Given the description of an element on the screen output the (x, y) to click on. 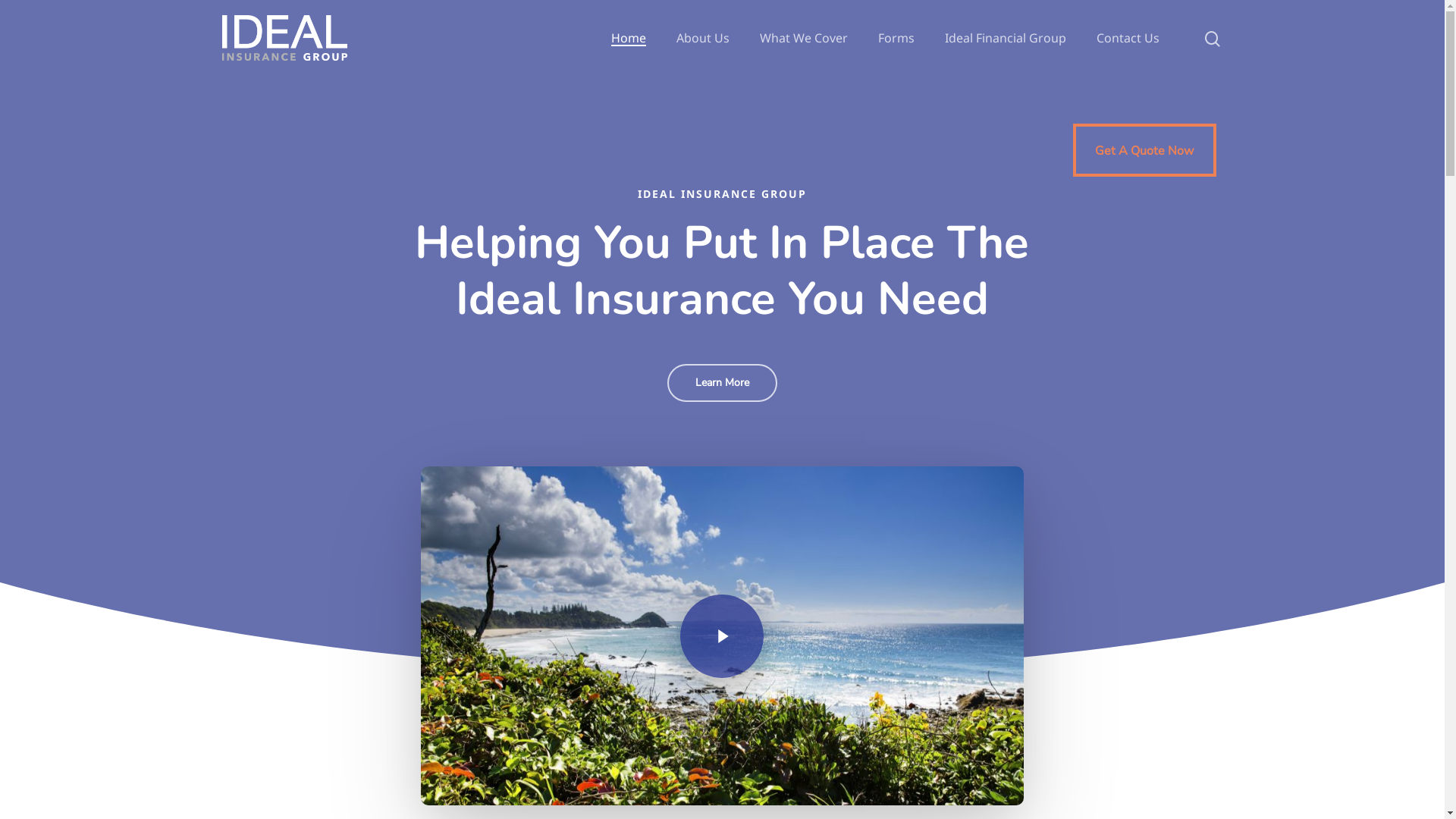
About Us Element type: text (702, 37)
What We Cover Element type: text (803, 37)
Contact Us Element type: text (1127, 37)
Forms Element type: text (896, 37)
Home Element type: text (628, 37)
Get A Quote Now
Get A Quote Now Element type: text (1144, 149)
Learn More Element type: text (722, 382)
Ideal Financial Group Element type: text (1005, 37)
